Given the description of an element on the screen output the (x, y) to click on. 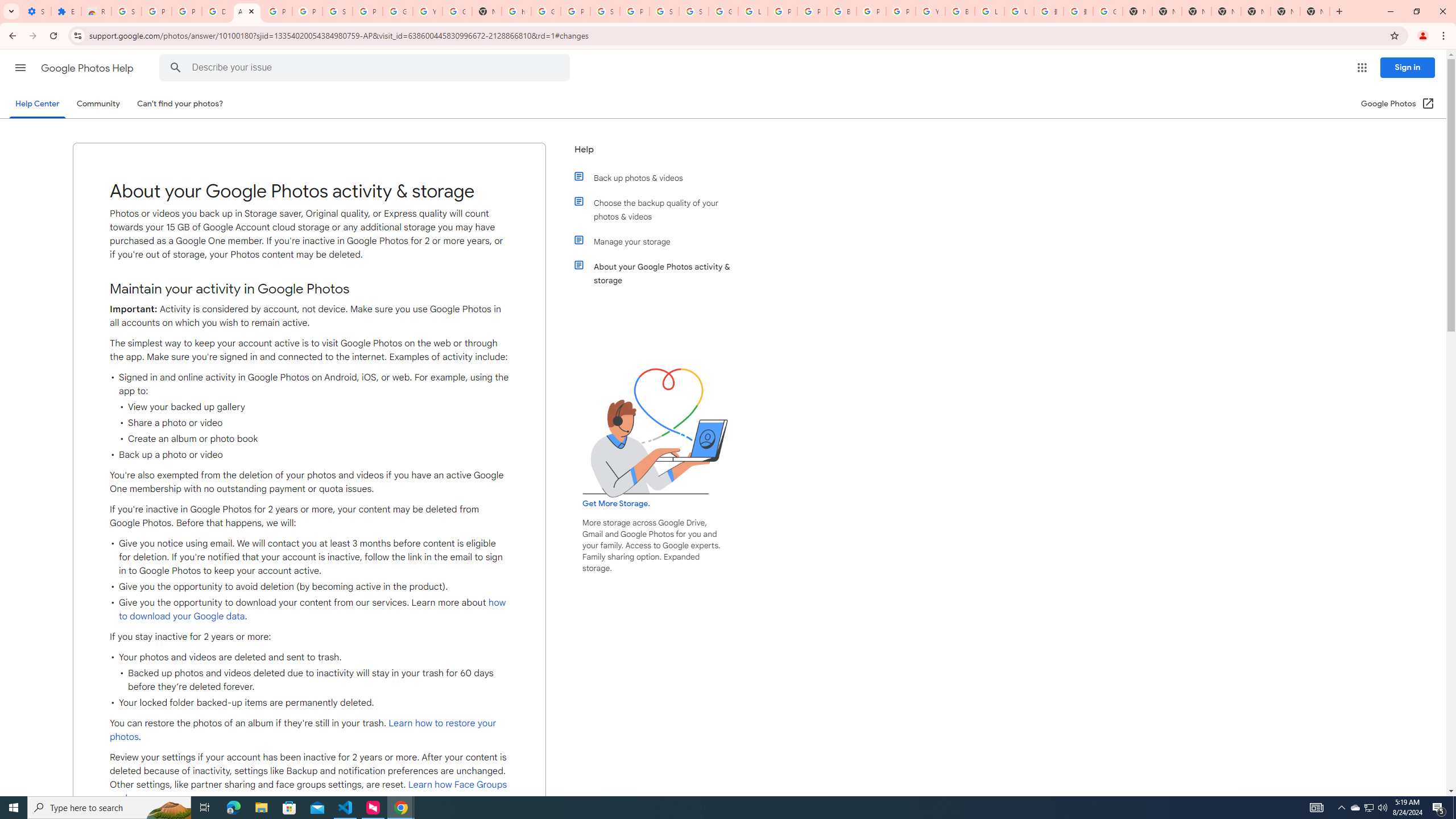
https://scholar.google.com/ (515, 11)
Help (656, 153)
Can't find your photos? (180, 103)
Extensions (65, 11)
Sign in - Google Accounts (664, 11)
Community (97, 103)
Browse Chrome as a guest - Computer - Google Chrome Help (959, 11)
YouTube (426, 11)
Sign in - Google Accounts (337, 11)
how to download your Google data (312, 609)
